Given the description of an element on the screen output the (x, y) to click on. 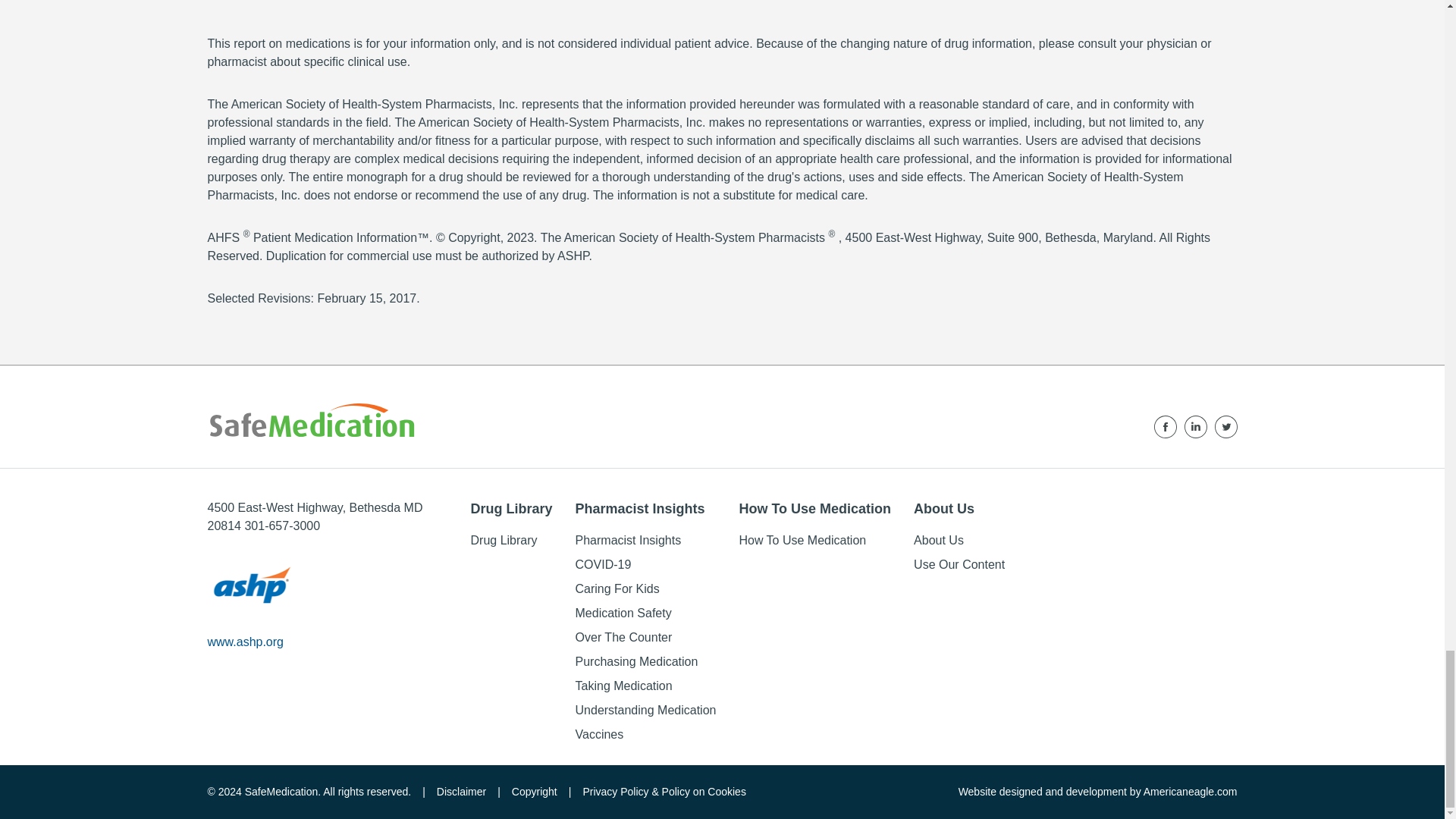
Pharmacist Insights (645, 508)
Drug Library (510, 508)
www.ashp.org (245, 641)
Drug Library (503, 540)
Pharmacist Insights (628, 540)
